Given the description of an element on the screen output the (x, y) to click on. 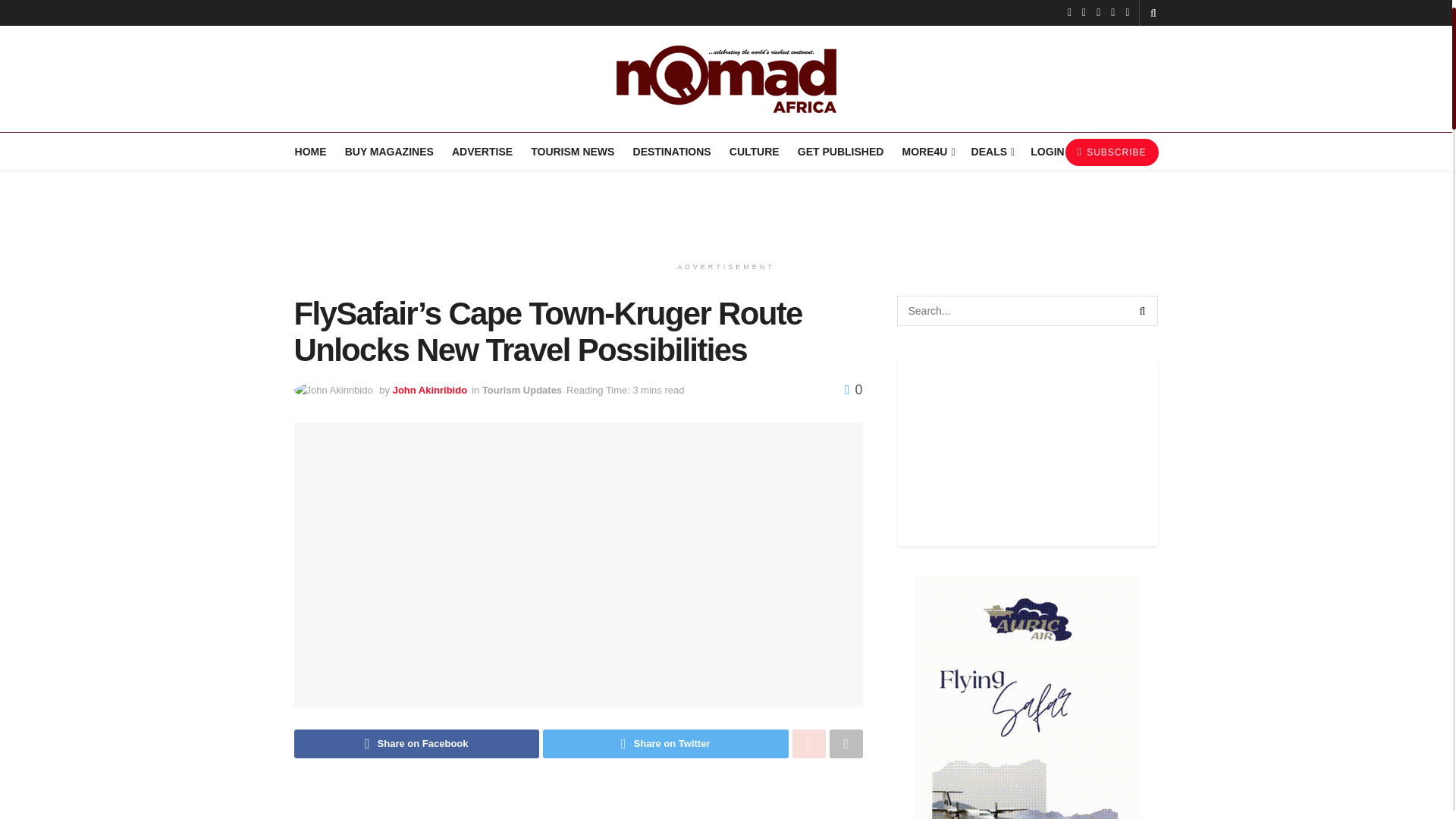
CULTURE (754, 151)
GET PUBLISHED (840, 151)
BUY MAGAZINES (388, 151)
DESTINATIONS (671, 151)
TOURISM NEWS (571, 151)
SUBSCRIBE (1111, 152)
MORE4U (927, 151)
LOGIN (1046, 151)
ADVERTISE (482, 151)
DEALS (992, 151)
HOME (310, 151)
